Given the description of an element on the screen output the (x, y) to click on. 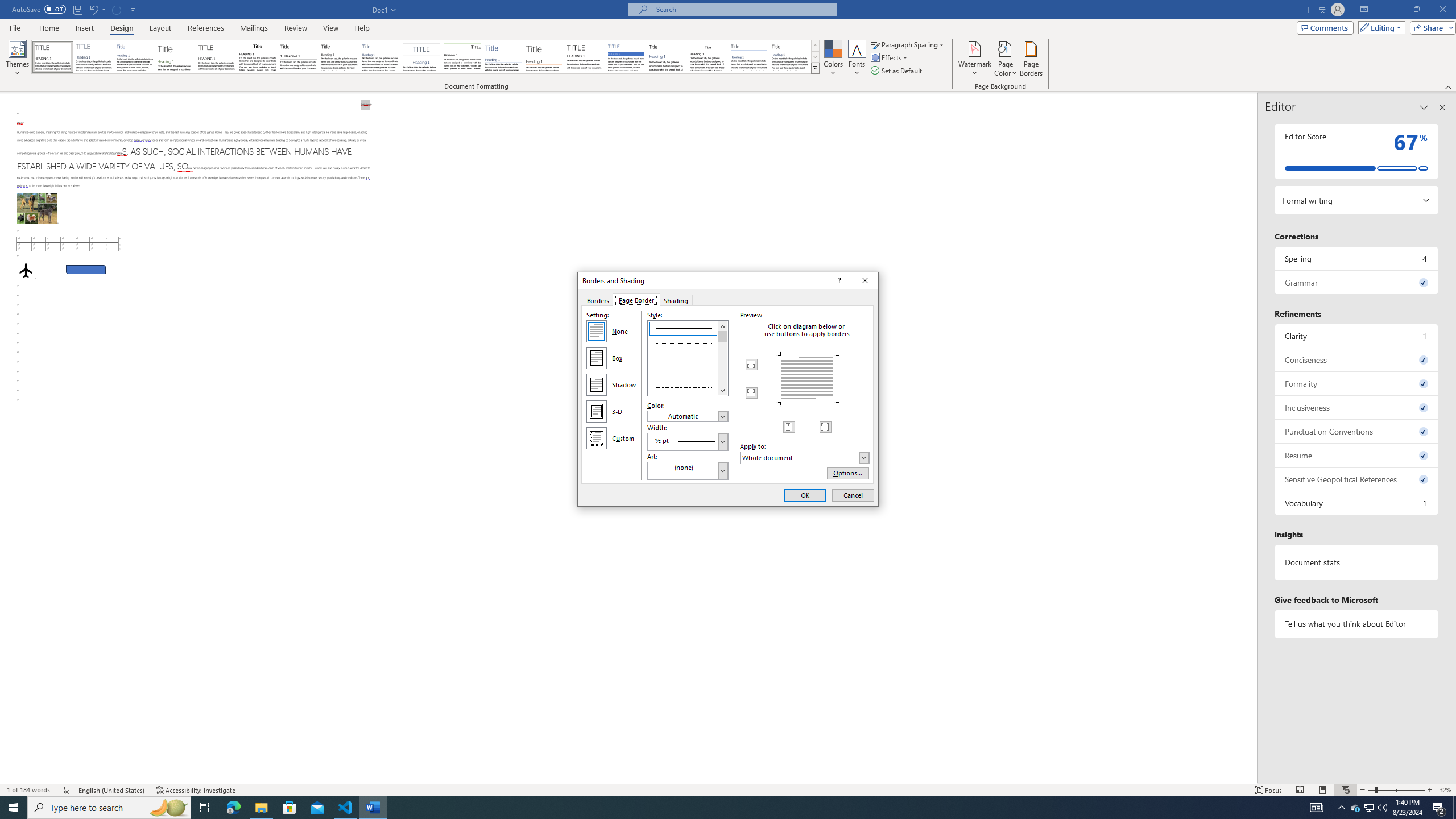
Apply to: (804, 457)
Basic (Elegant) (93, 56)
Type here to search (108, 807)
Black & White (Word 2013) (338, 56)
Art: (687, 470)
Custom (596, 438)
Context help (838, 280)
Casual (379, 56)
Page Color (1005, 58)
